Given the description of an element on the screen output the (x, y) to click on. 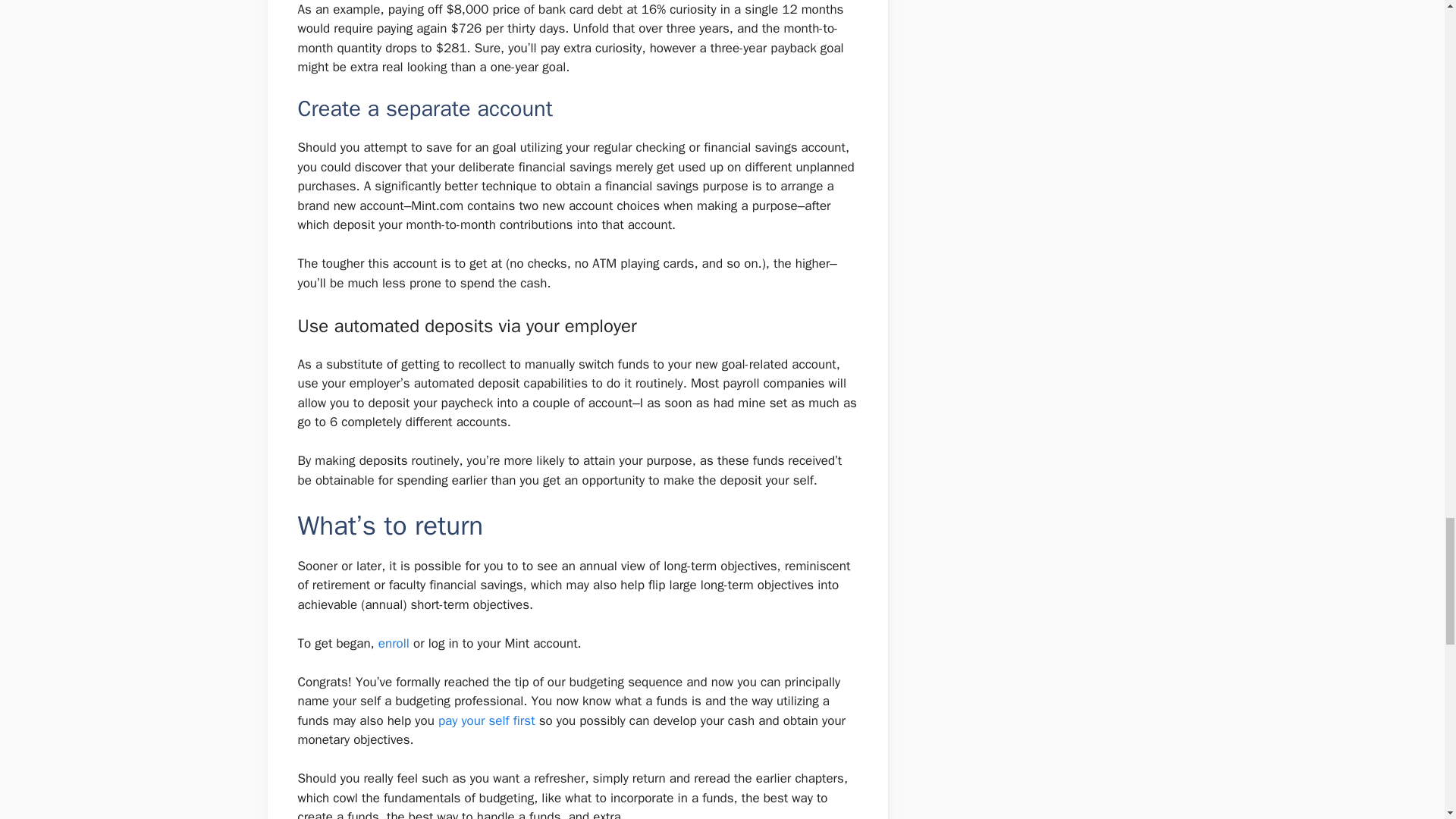
enroll (393, 643)
pay your self first (486, 720)
